Given the description of an element on the screen output the (x, y) to click on. 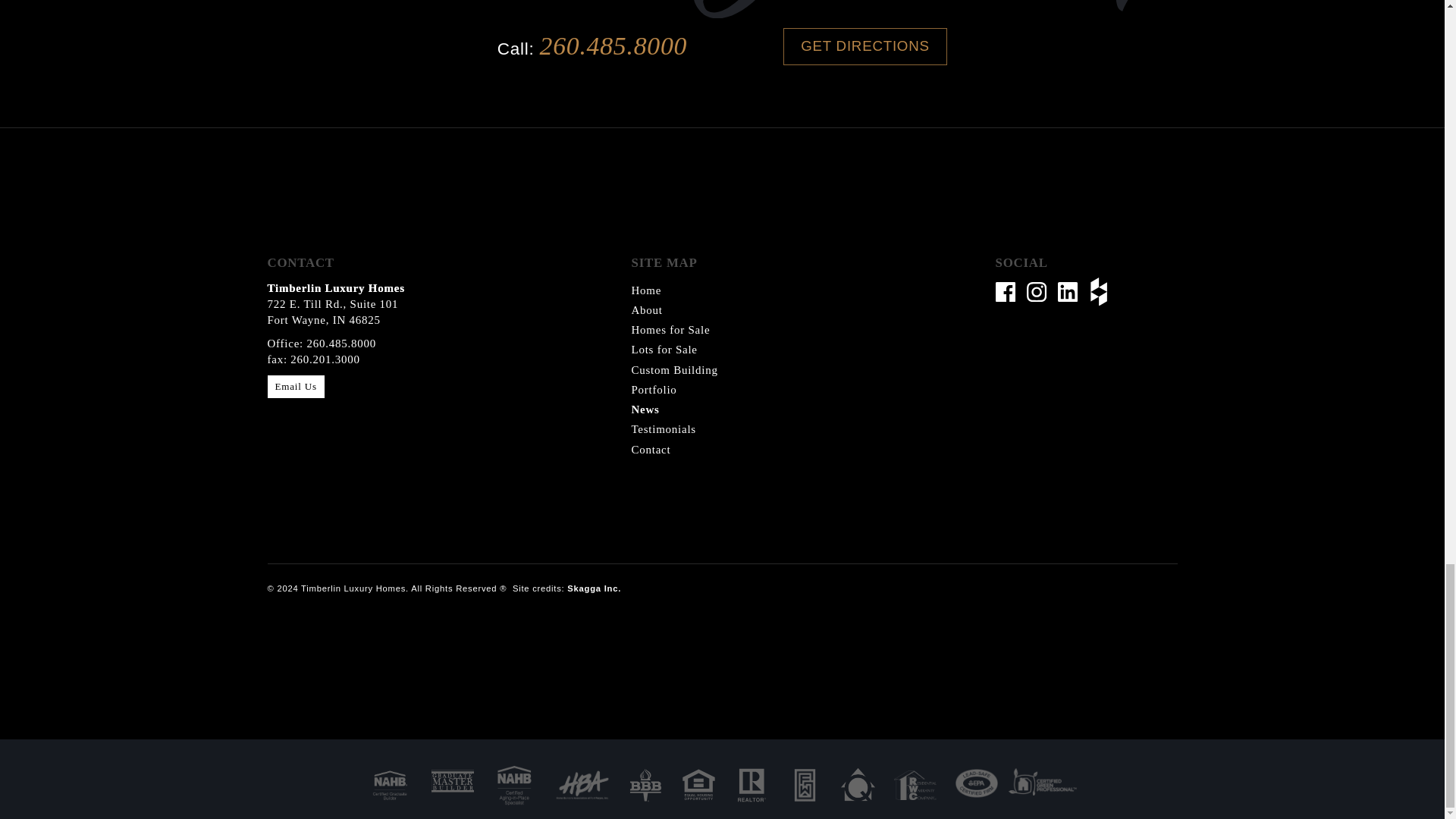
260.485.8000 (613, 45)
Facebook icon (1004, 291)
LinkedIn icon (1067, 291)
Lots for Sale (663, 349)
Skagga Inc. (594, 587)
260.485.8000 (340, 343)
Email Us (294, 386)
Certified Graduate Builder (390, 784)
LinkedIn icon (1073, 291)
Facebook icon (1010, 291)
